Given the description of an element on the screen output the (x, y) to click on. 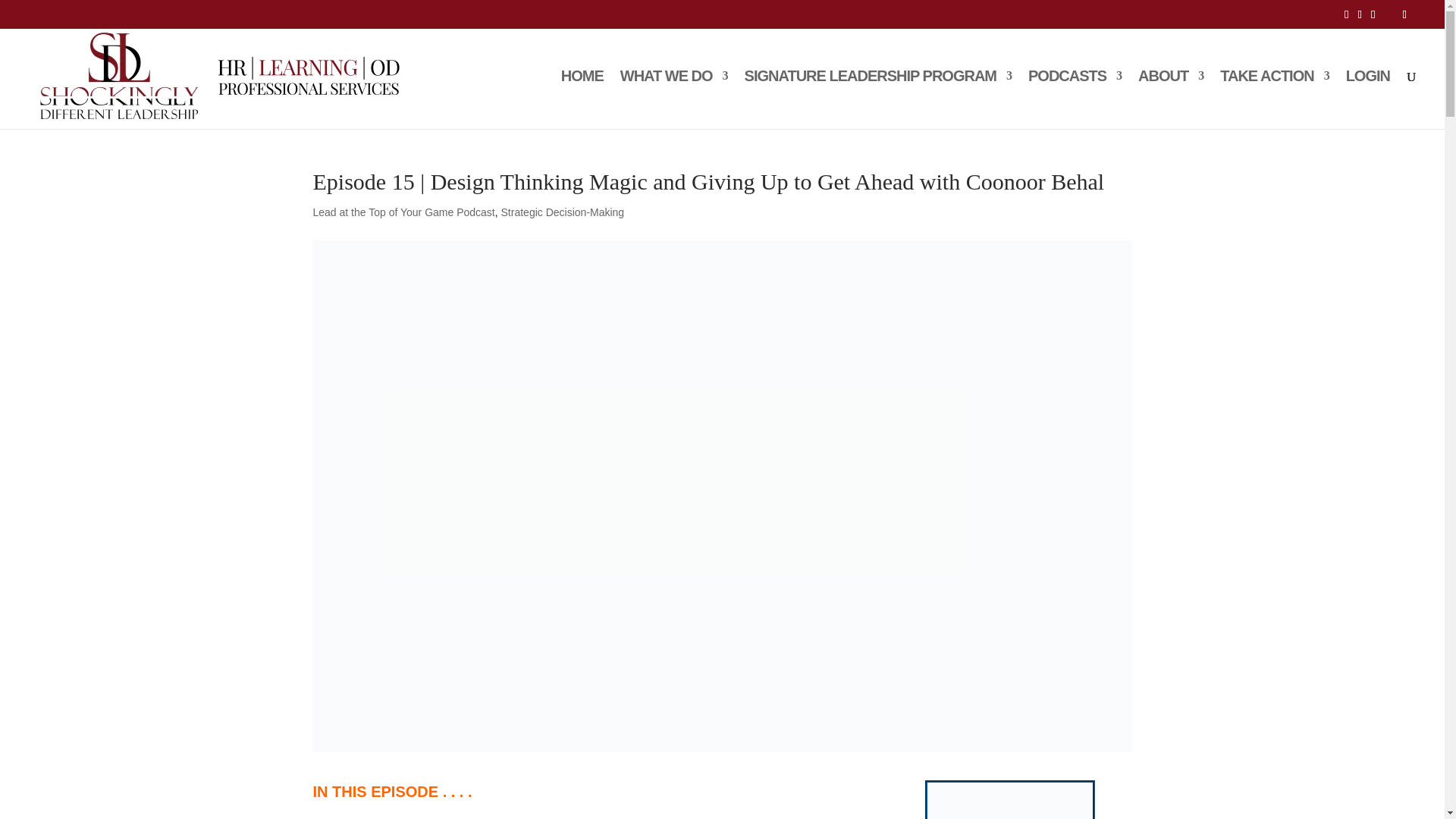
WHAT WE DO (674, 99)
SIGNATURE LEADERSHIP PROGRAM (877, 99)
